Given the description of an element on the screen output the (x, y) to click on. 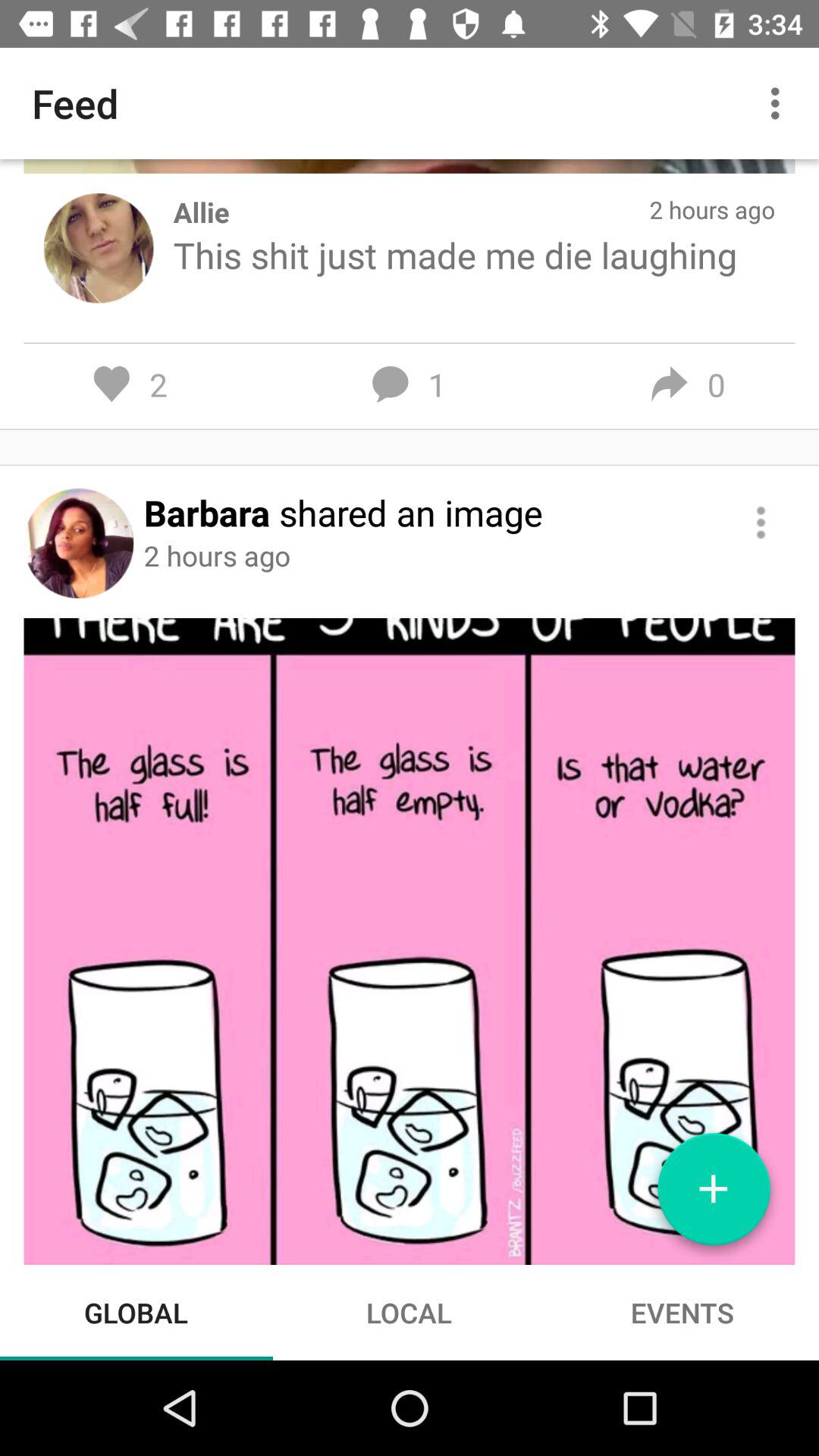
profile picture (78, 543)
